Given the description of an element on the screen output the (x, y) to click on. 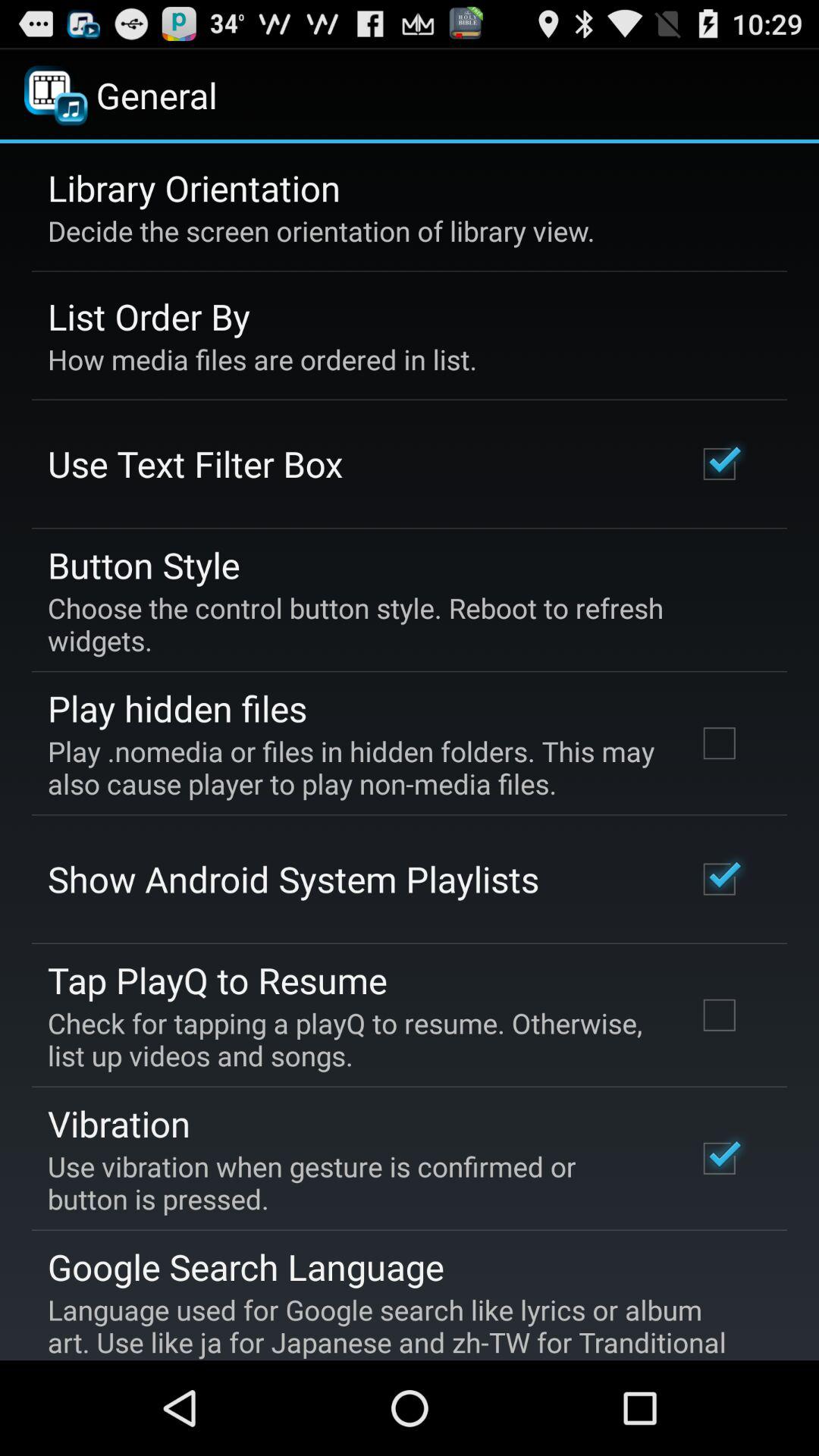
turn on the icon above tap playq to app (293, 878)
